Given the description of an element on the screen output the (x, y) to click on. 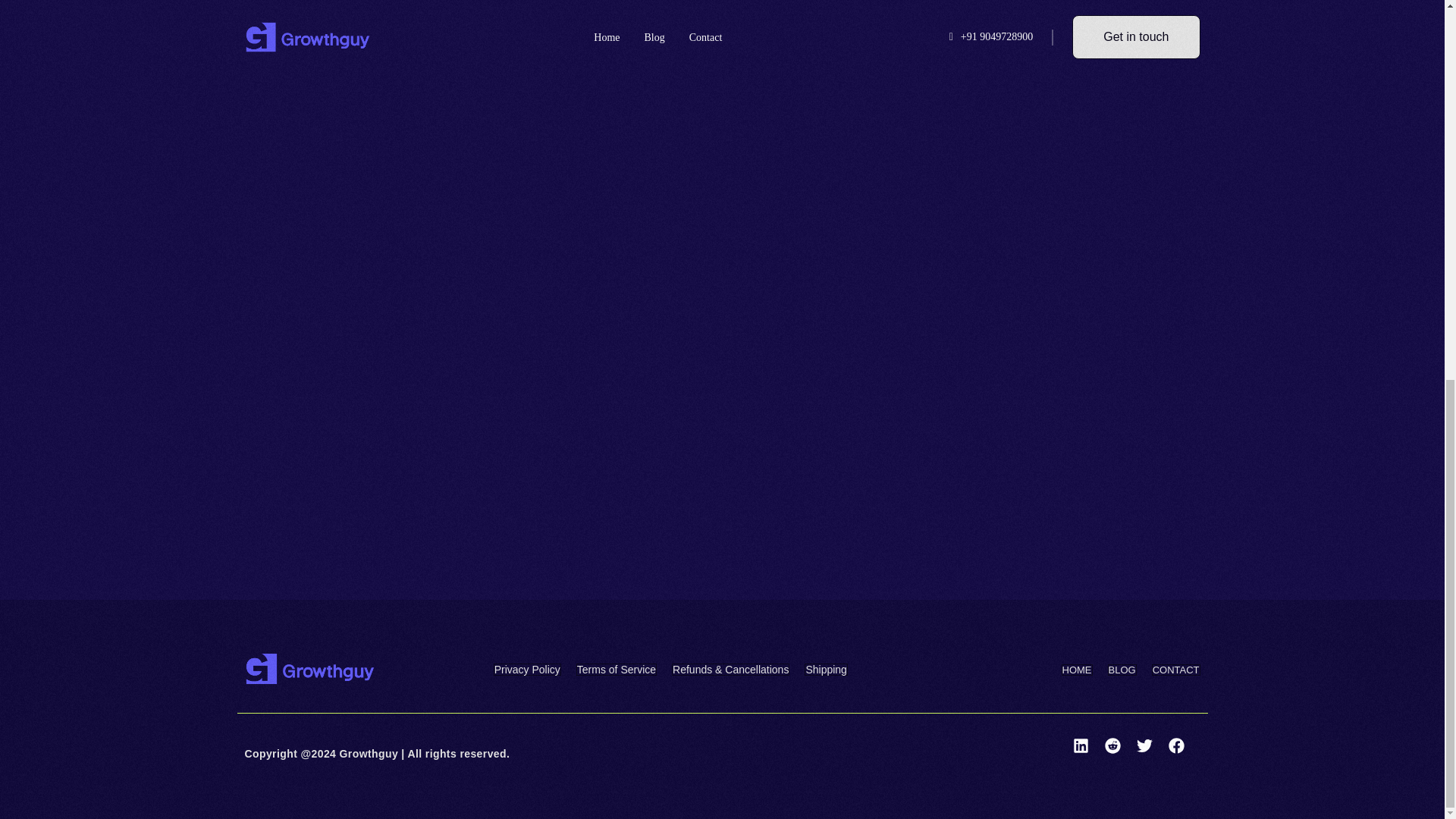
BLOG (1120, 669)
CONTACT (1175, 669)
HOME (1077, 669)
Privacy Policy (526, 669)
Terms of Service (616, 669)
Shipping (826, 669)
